Given the description of an element on the screen output the (x, y) to click on. 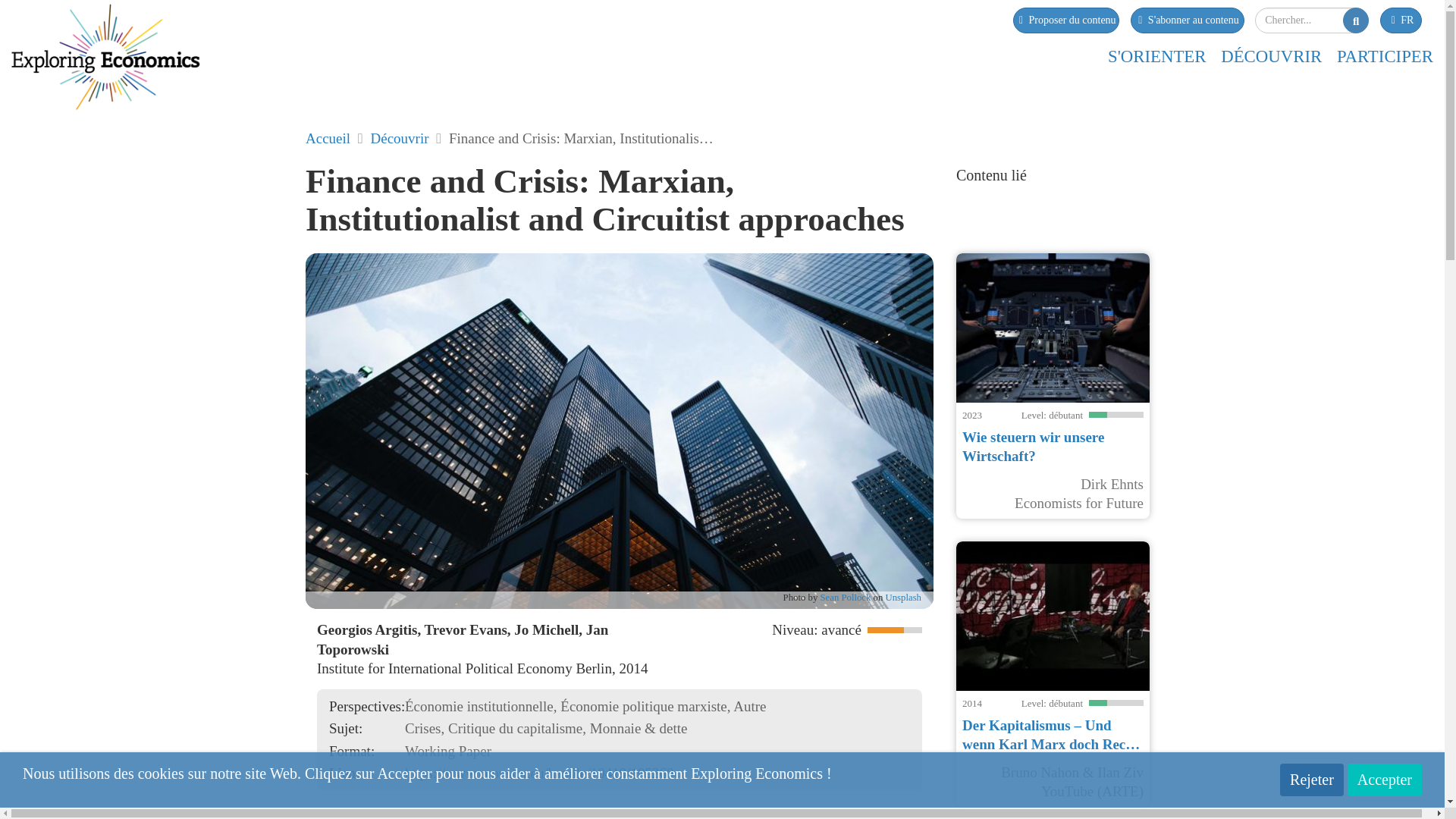
FR (1401, 20)
S'abonner au contenu (1186, 20)
PARTICIPER (1384, 56)
Unsplash (903, 597)
Sean Pollock (844, 597)
Proposer du contenu (1066, 20)
S'ORIENTER (1157, 56)
Accueil (327, 138)
